Given the description of an element on the screen output the (x, y) to click on. 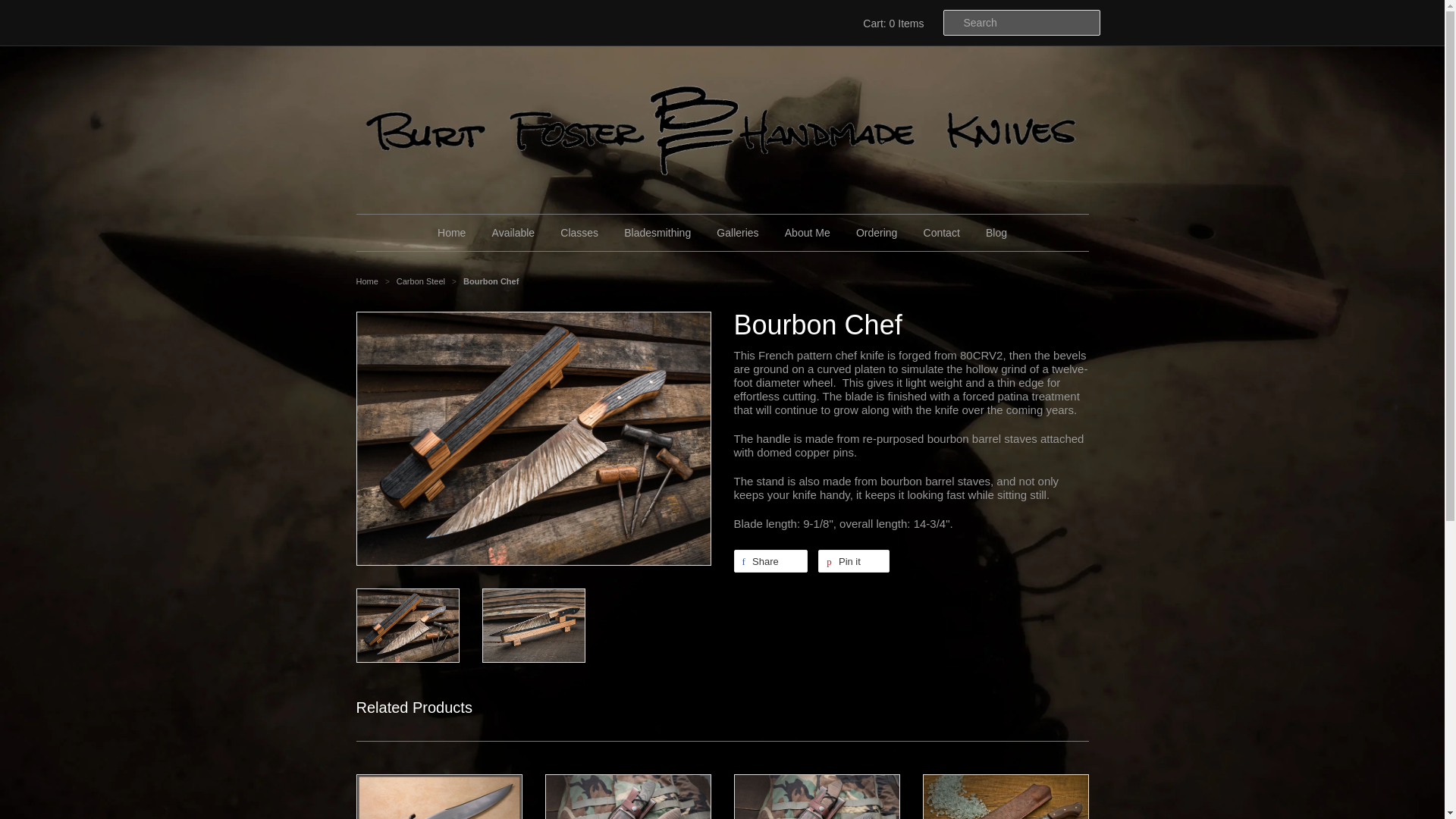
Carbon Steel (421, 280)
Bladesmithing (656, 232)
Available (513, 232)
Cart: 0 Items (891, 23)
Classes (579, 232)
Cart (891, 23)
BFHK (367, 280)
Galleries (737, 232)
Home (451, 232)
